Given the description of an element on the screen output the (x, y) to click on. 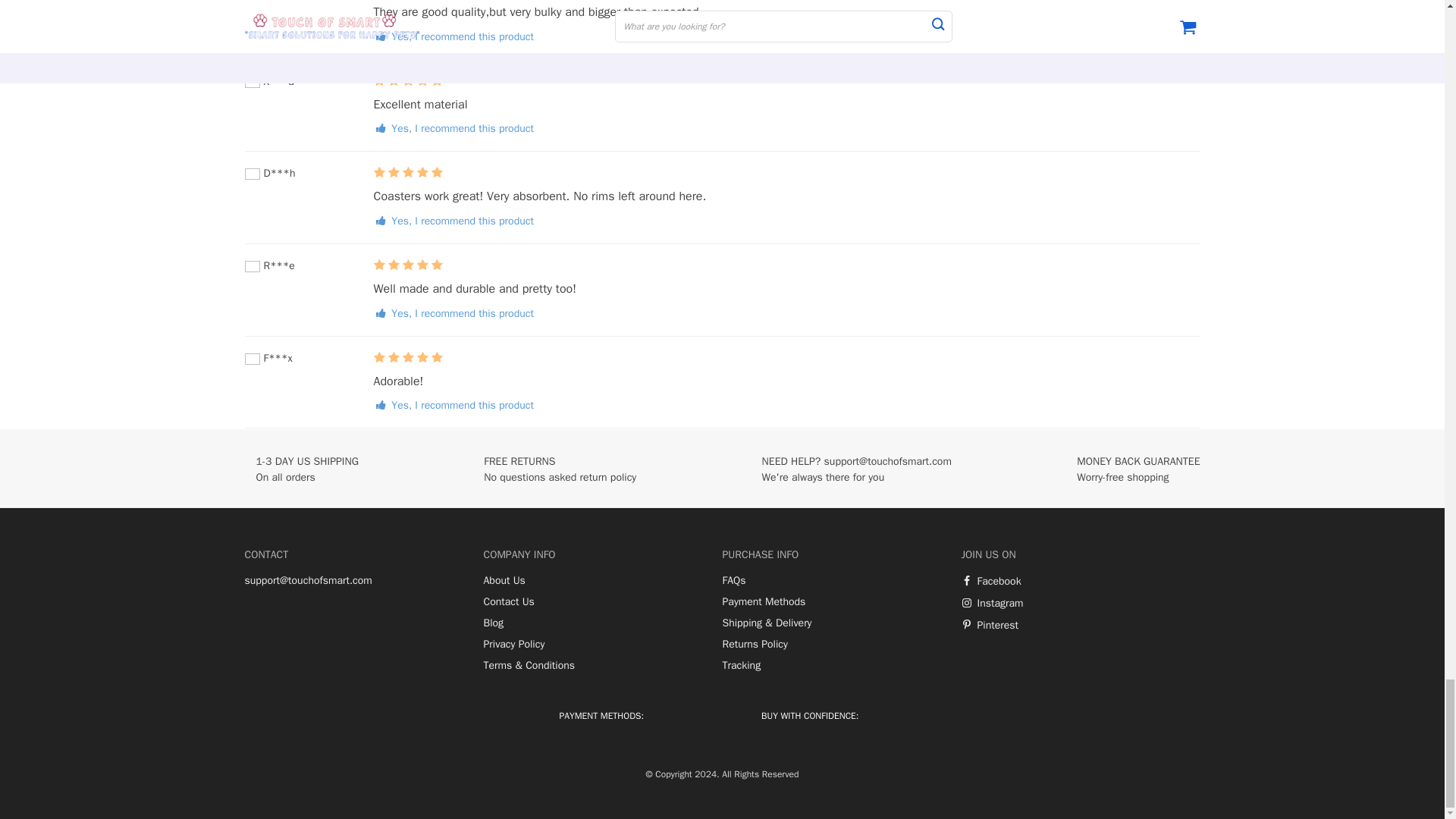
About Us (504, 581)
Blog (493, 622)
Privacy Policy (513, 644)
Contact Us (508, 602)
